Given the description of an element on the screen output the (x, y) to click on. 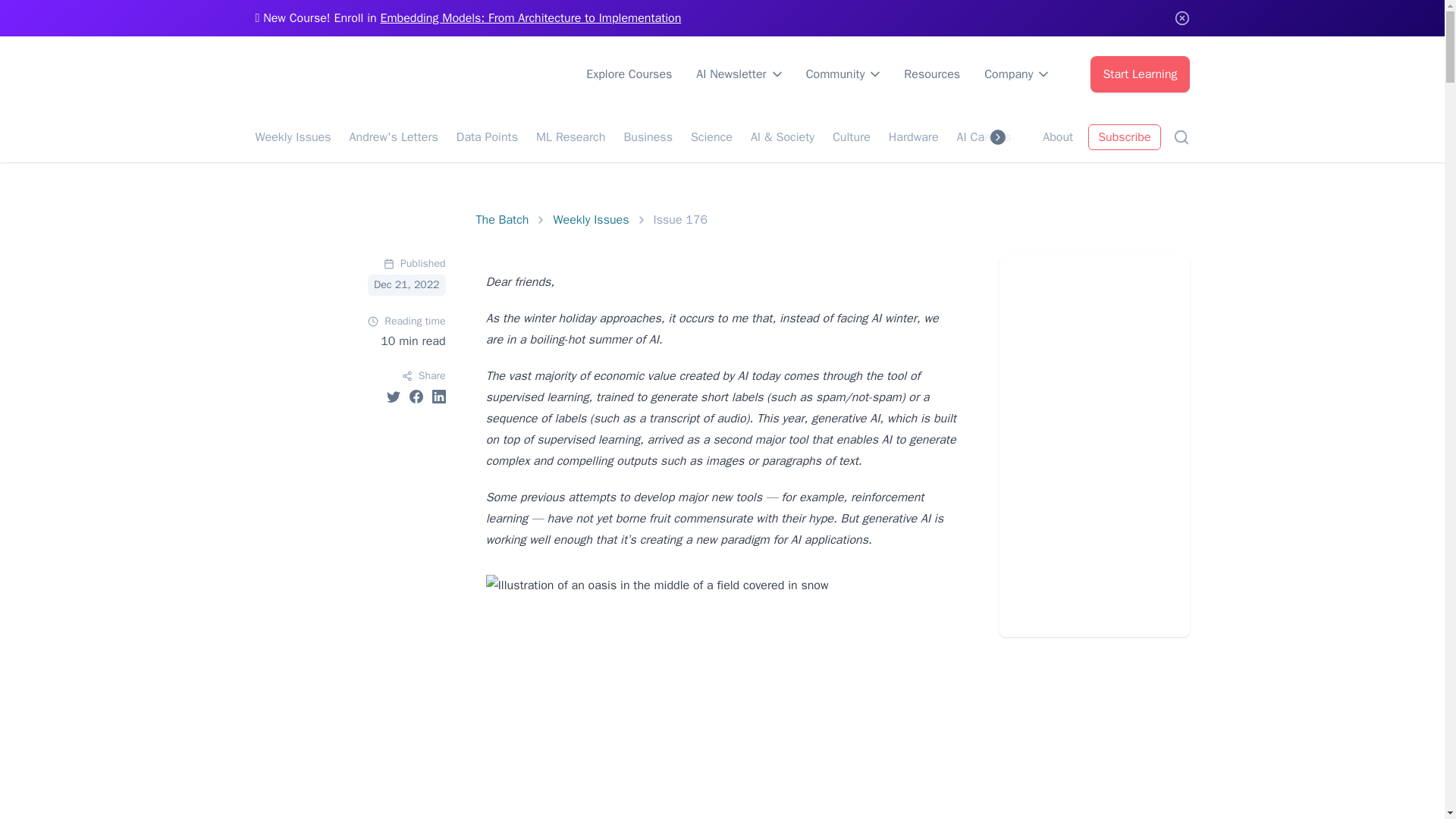
Embedding Models: From Architecture to Implementation (530, 17)
Company (1015, 74)
Explore Courses (628, 74)
Data Points (487, 137)
Resources (931, 74)
Community (842, 74)
Weekly Issues (292, 137)
Subscribe (1123, 136)
ML Research (570, 137)
Weekly Issues (590, 219)
Search (1180, 136)
AI Newsletter (738, 74)
Andrew's Letters (393, 137)
The Batch (502, 219)
Business (647, 137)
